Given the description of an element on the screen output the (x, y) to click on. 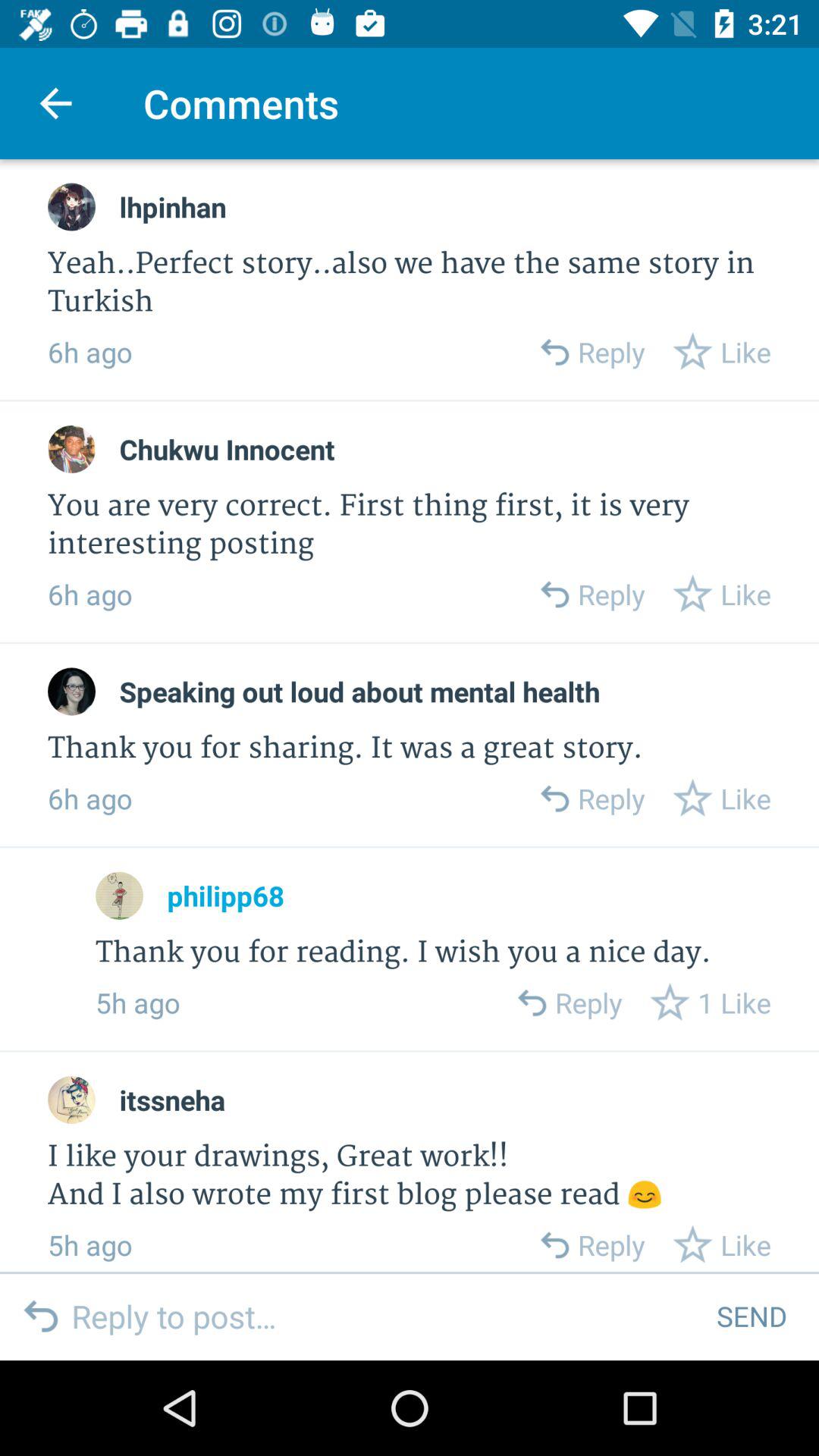
swipe to i like your item (409, 1176)
